Given the description of an element on the screen output the (x, y) to click on. 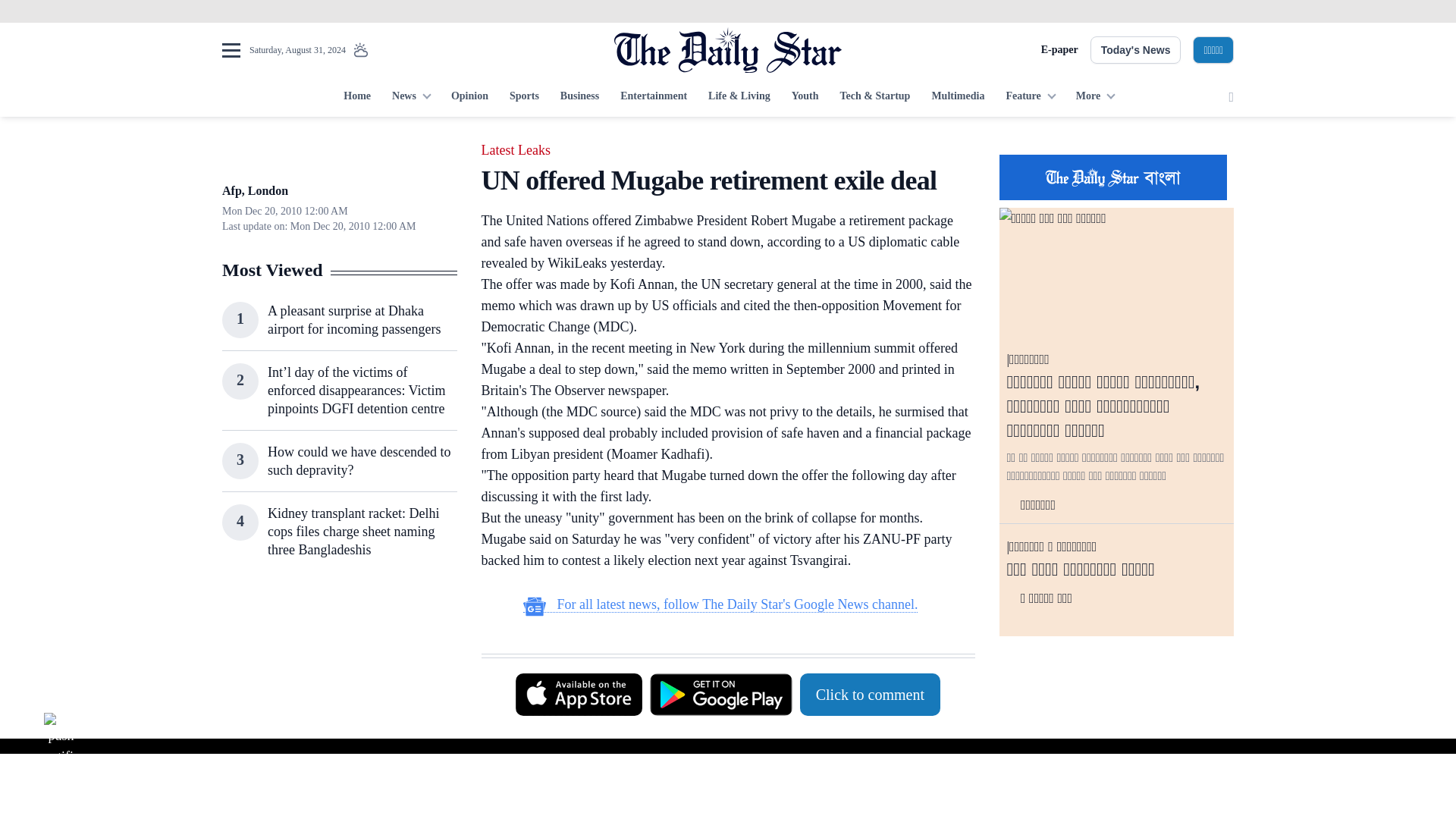
Opinion (469, 96)
Business (579, 96)
Sports (524, 96)
Today's News (1135, 49)
Home (357, 96)
E-paper (1059, 49)
Feature (1028, 96)
Multimedia (956, 96)
News (410, 96)
